Given the description of an element on the screen output the (x, y) to click on. 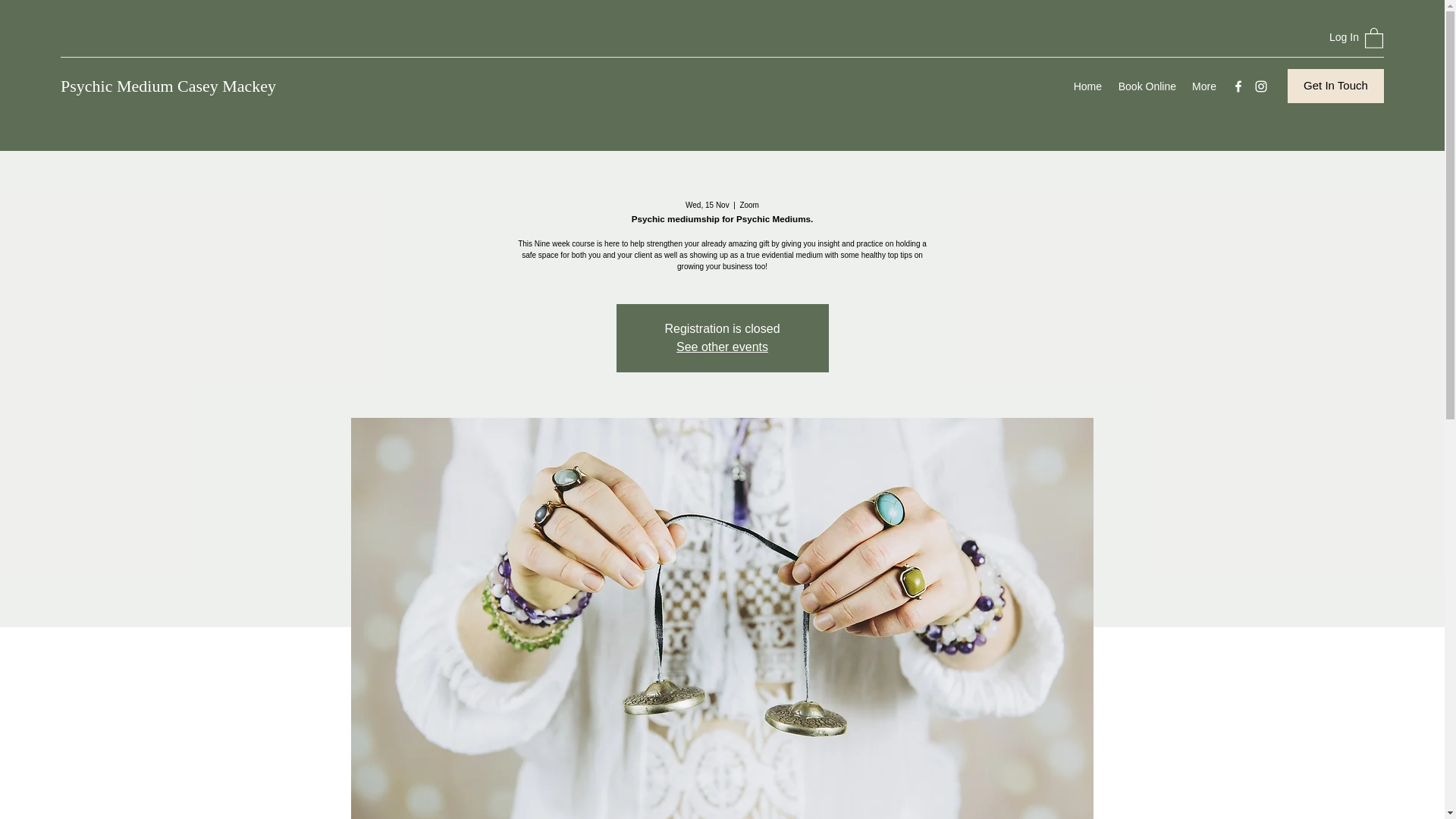
Get In Touch (1335, 85)
See other events (722, 346)
Log In (1325, 37)
Psychic Medium Casey Mackey (168, 85)
Home (1086, 86)
Book Online (1146, 86)
